Given the description of an element on the screen output the (x, y) to click on. 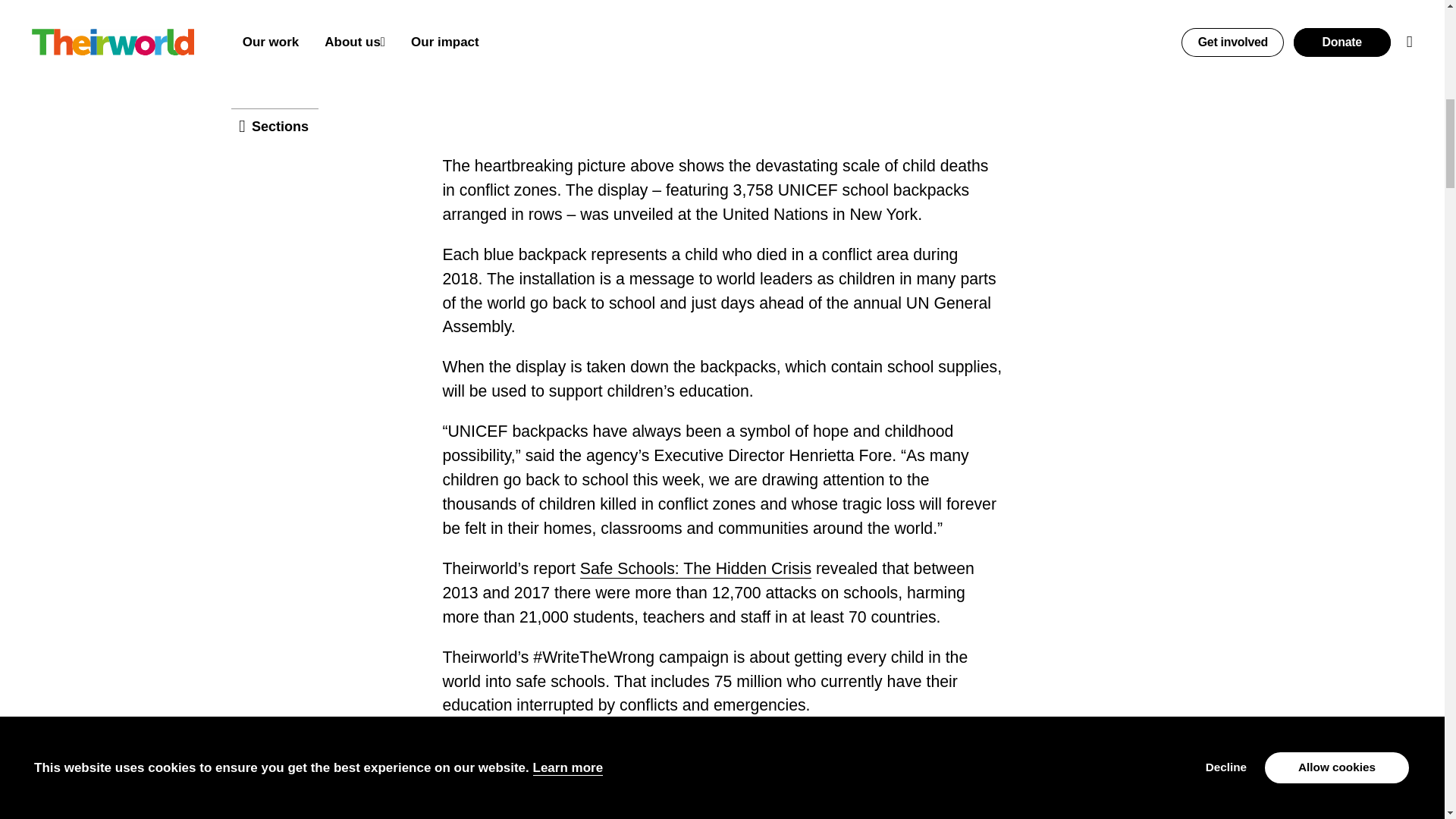
Safe Schools: The Hidden Crisis (694, 568)
Sections (274, 32)
